Given the description of an element on the screen output the (x, y) to click on. 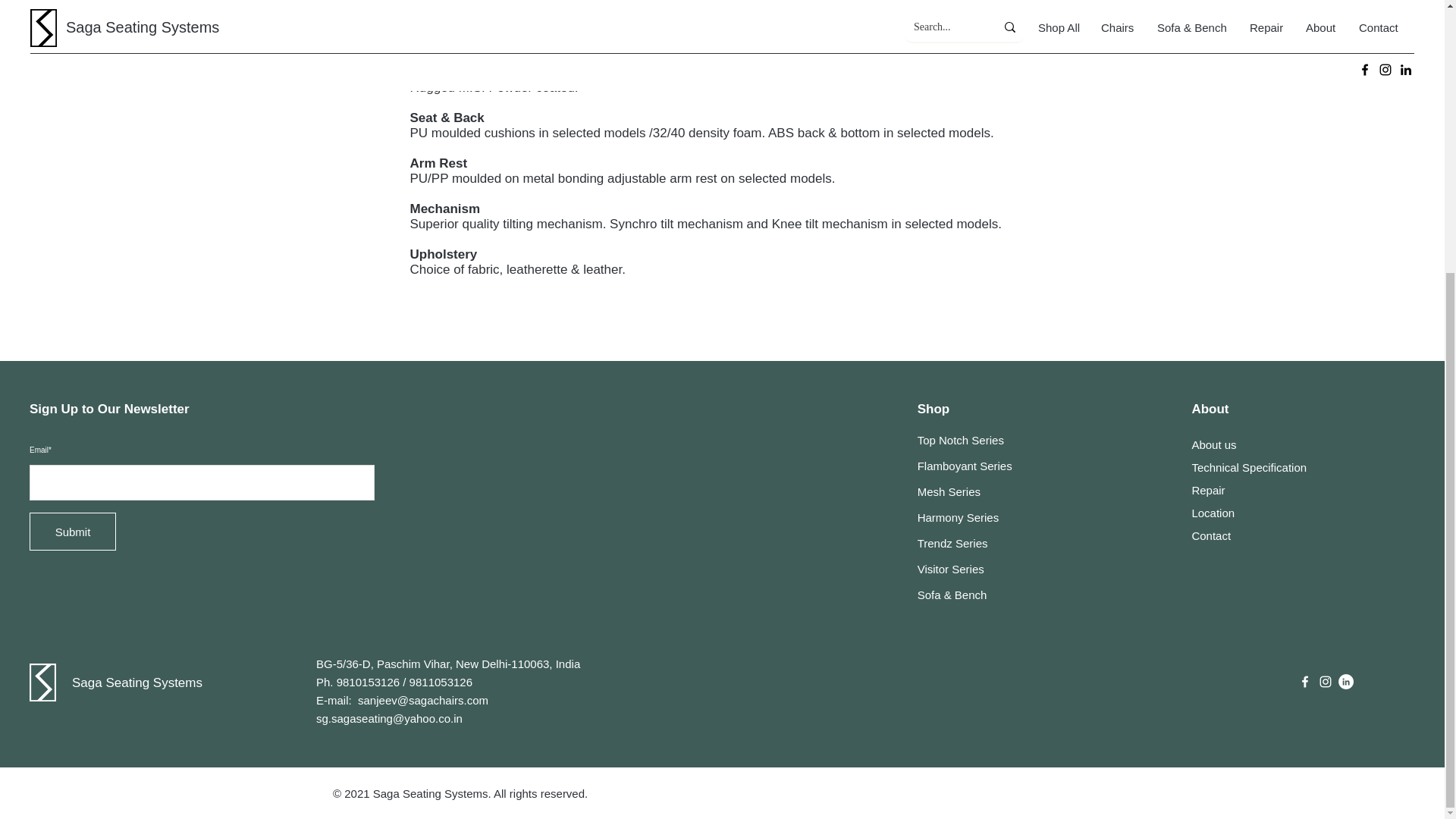
Top Notch Series (960, 440)
Trendz Series (952, 543)
About us (1213, 444)
Visitor Series (950, 568)
Repair (1207, 490)
Harmony Series (957, 517)
Flamboyant Series (964, 465)
Location (1212, 512)
Contact (1210, 535)
Mesh Series  (950, 491)
Submit (72, 531)
Technical Specification (1248, 467)
Saga Seating Systems (136, 682)
